Given the description of an element on the screen output the (x, y) to click on. 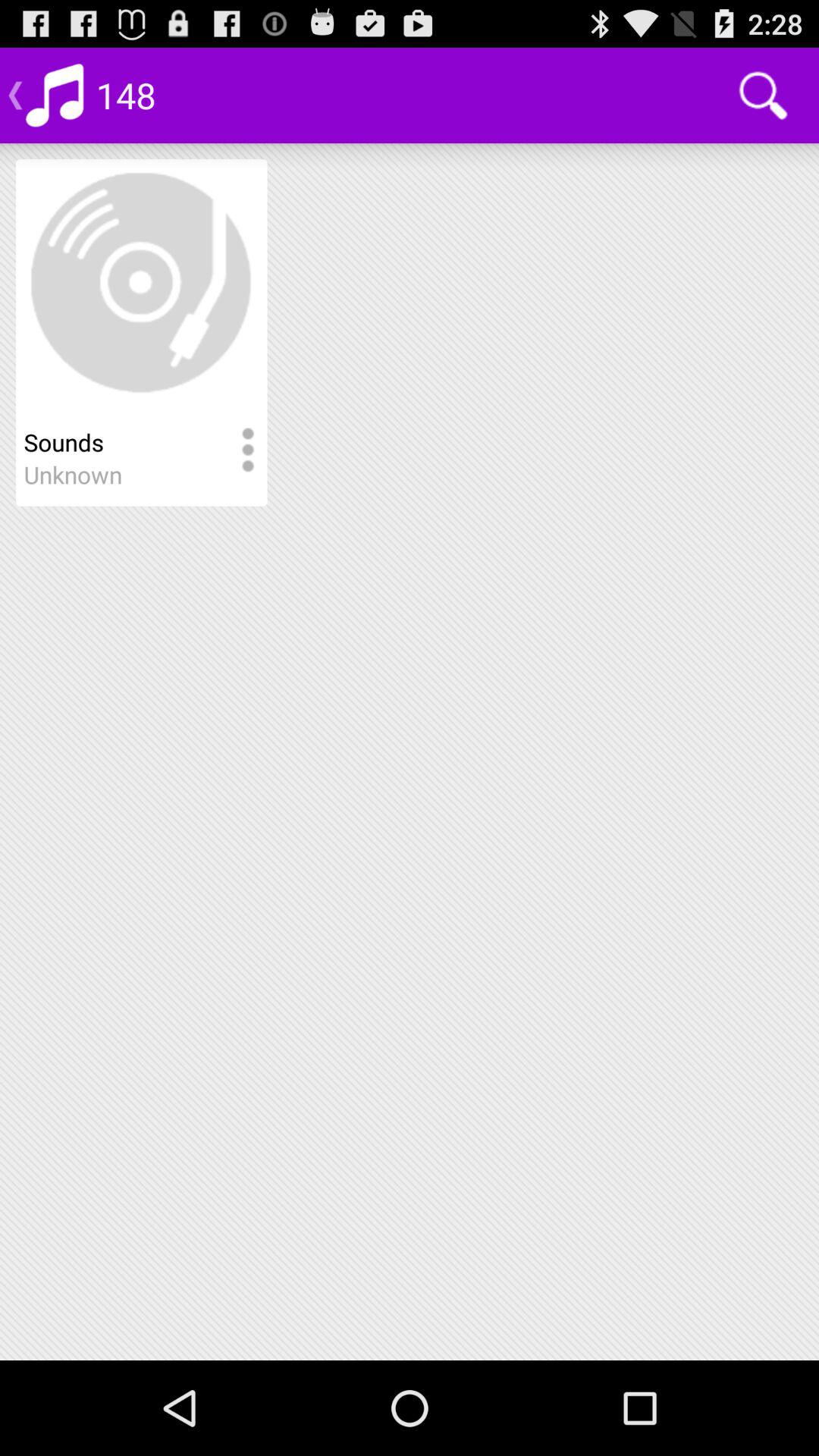
turn on the app to the right of 148 (763, 95)
